Given the description of an element on the screen output the (x, y) to click on. 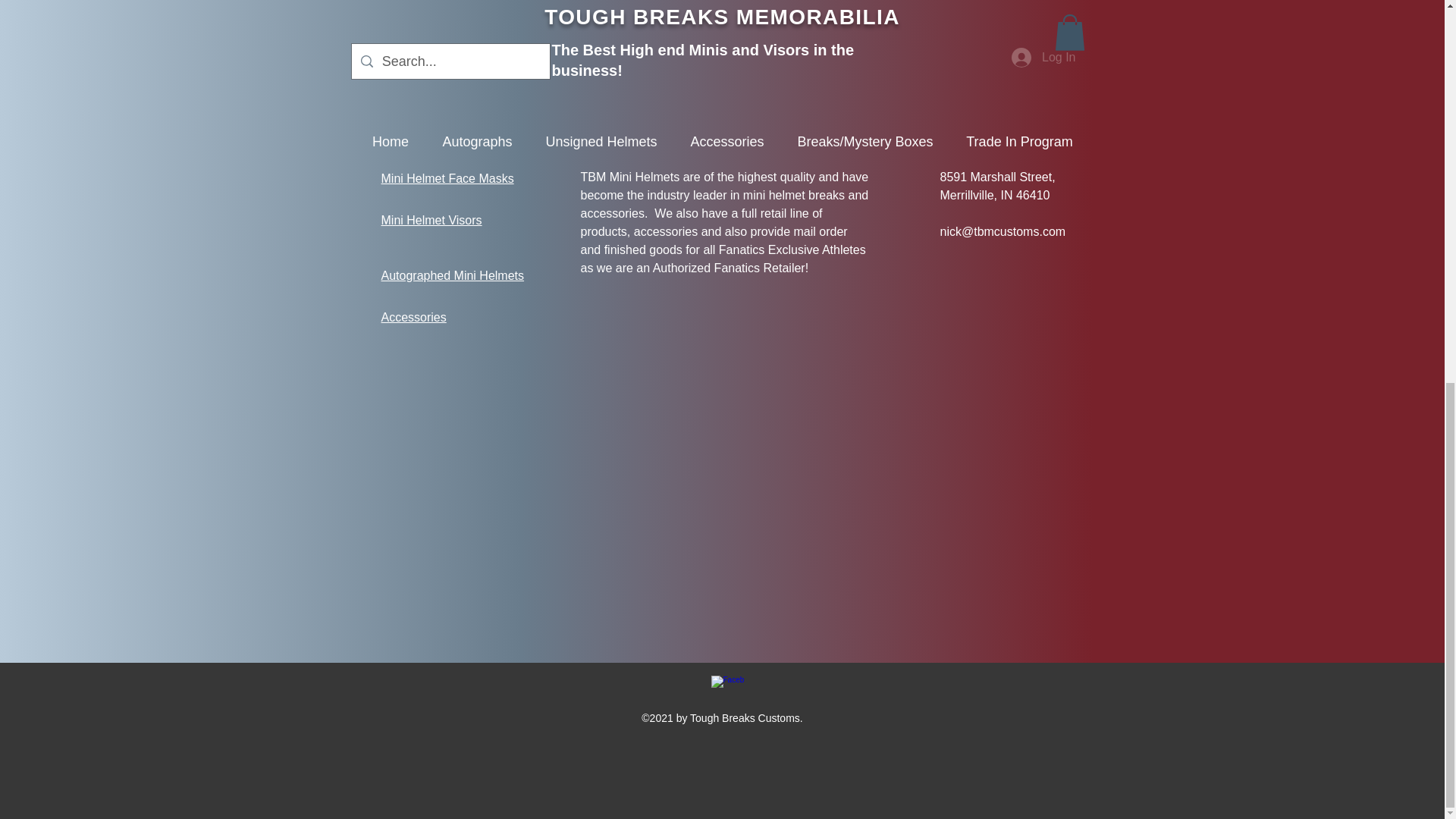
Mini Helmet Face Masks (446, 178)
Autographed Mini Helmets (452, 275)
Accessories (412, 317)
Mini Helmet Visors (430, 219)
